Given the description of an element on the screen output the (x, y) to click on. 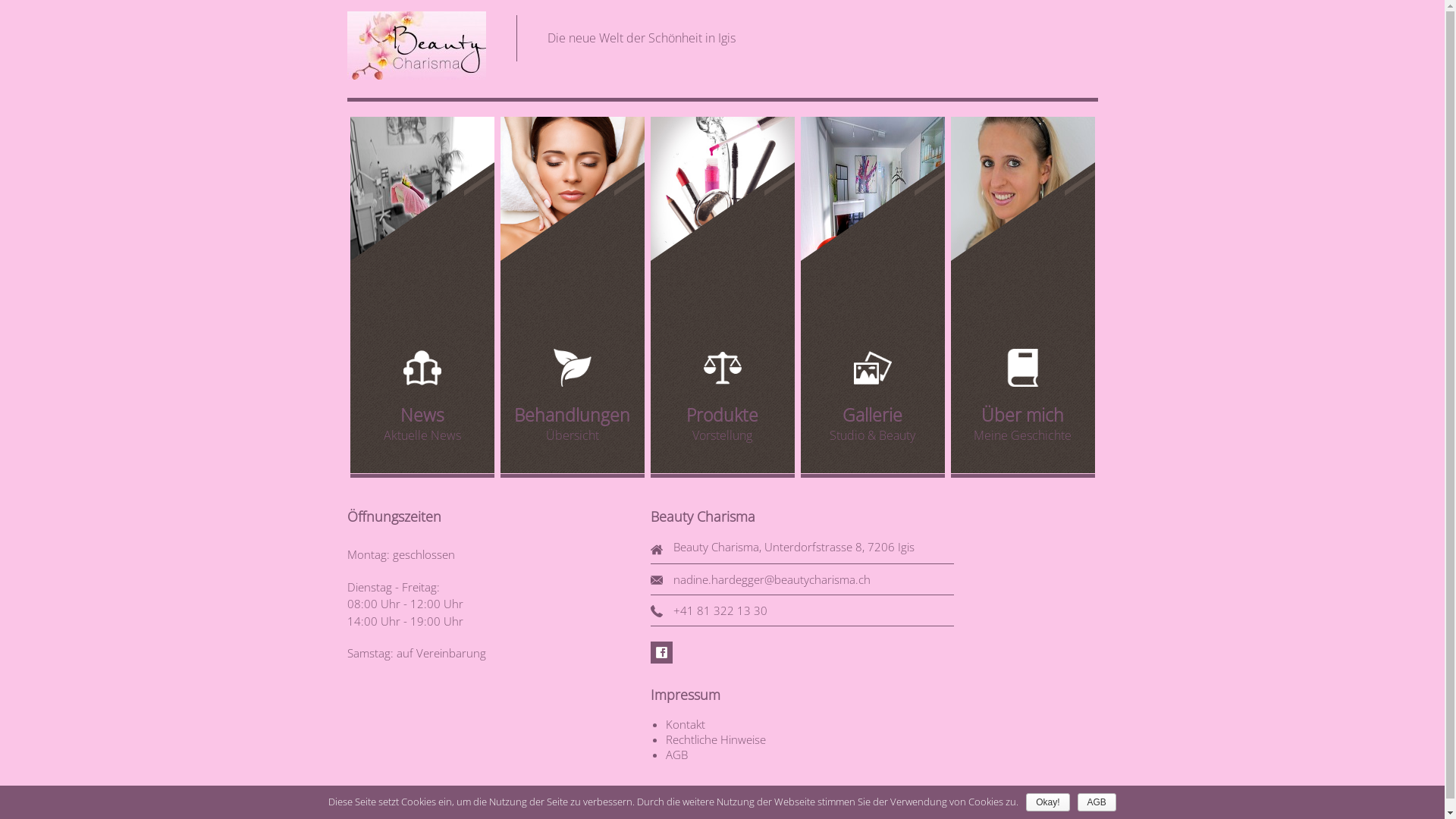
Okay! Element type: text (1047, 802)
Kontakt Element type: text (685, 723)
Produkte
Vorstellung Element type: text (722, 294)
AGB Element type: text (1095, 802)
Gallerie
Studio & Beauty Element type: text (872, 294)
Beauty Charisma Element type: hover (416, 46)
News
Aktuelle News Element type: text (422, 294)
AGB Element type: text (676, 754)
Rechtliche Hinweise Element type: text (715, 738)
nadine.hardegger@beautycharisma.ch Element type: text (771, 578)
